Given the description of an element on the screen output the (x, y) to click on. 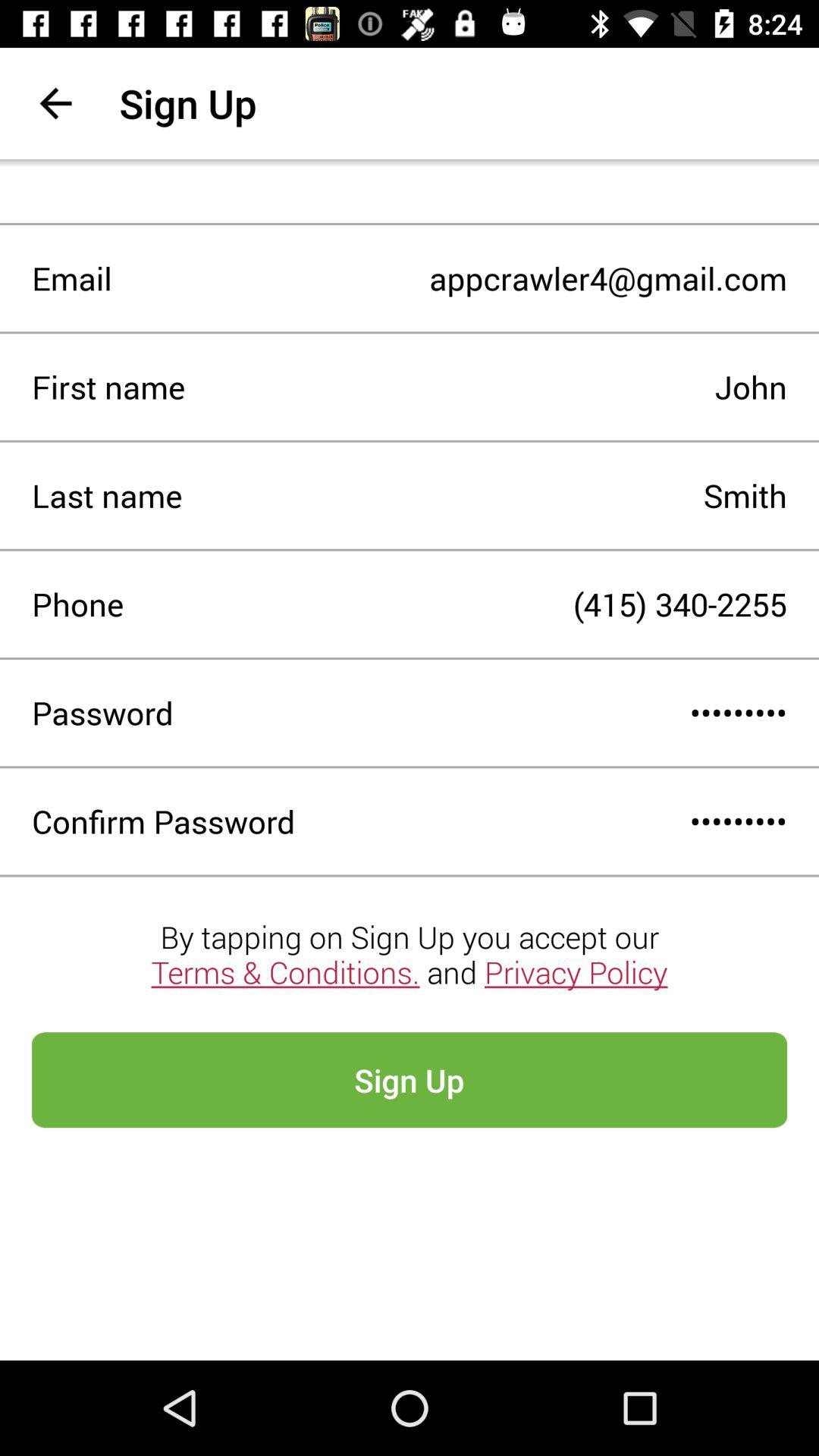
click icon to the right of phone (455, 603)
